Given the description of an element on the screen output the (x, y) to click on. 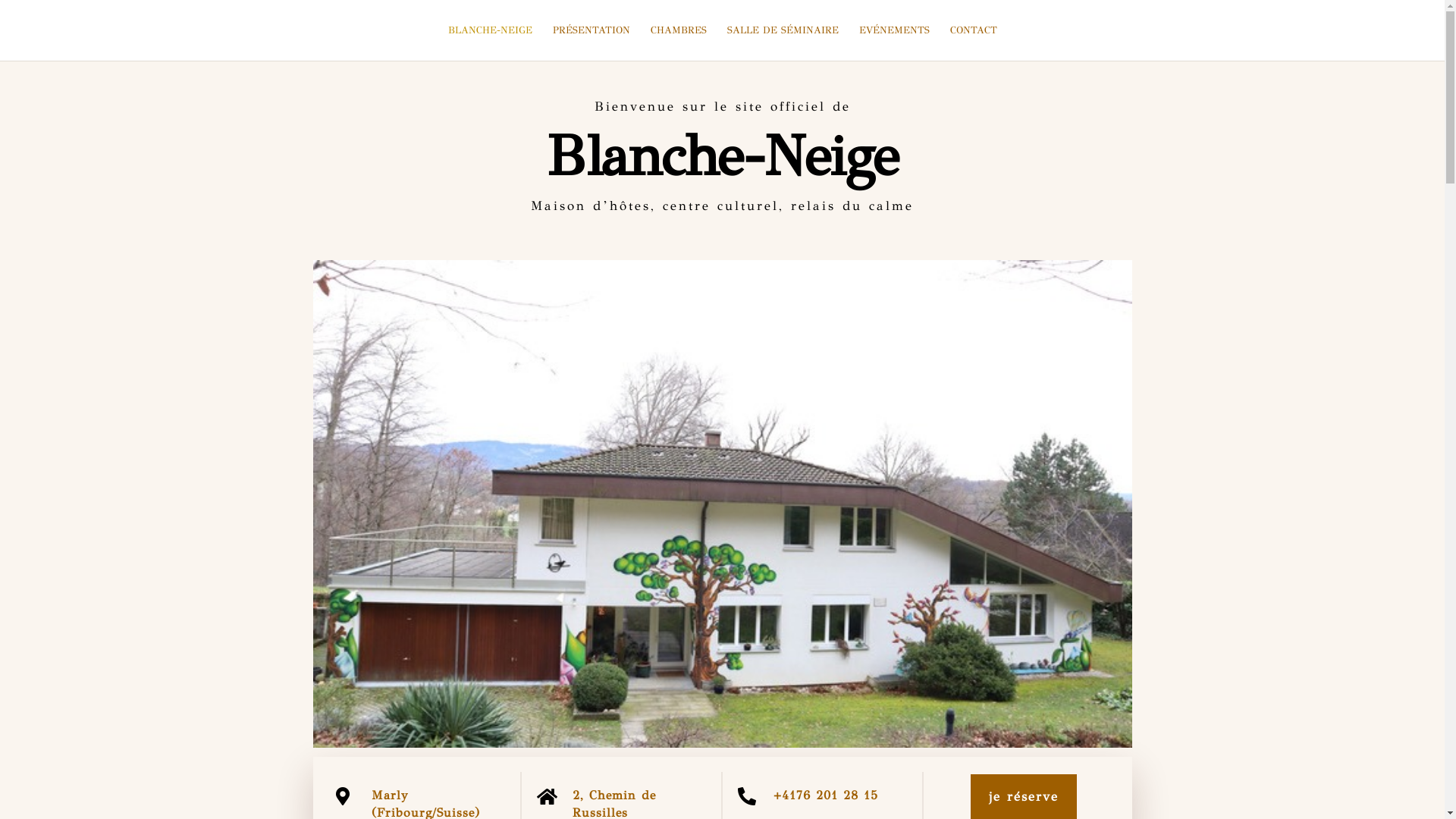
CONTACT Element type: text (972, 42)
BN1 Element type: hover (721, 503)
BLANCHE-NEIGE Element type: text (489, 42)
CHAMBRES Element type: text (678, 42)
